Given the description of an element on the screen output the (x, y) to click on. 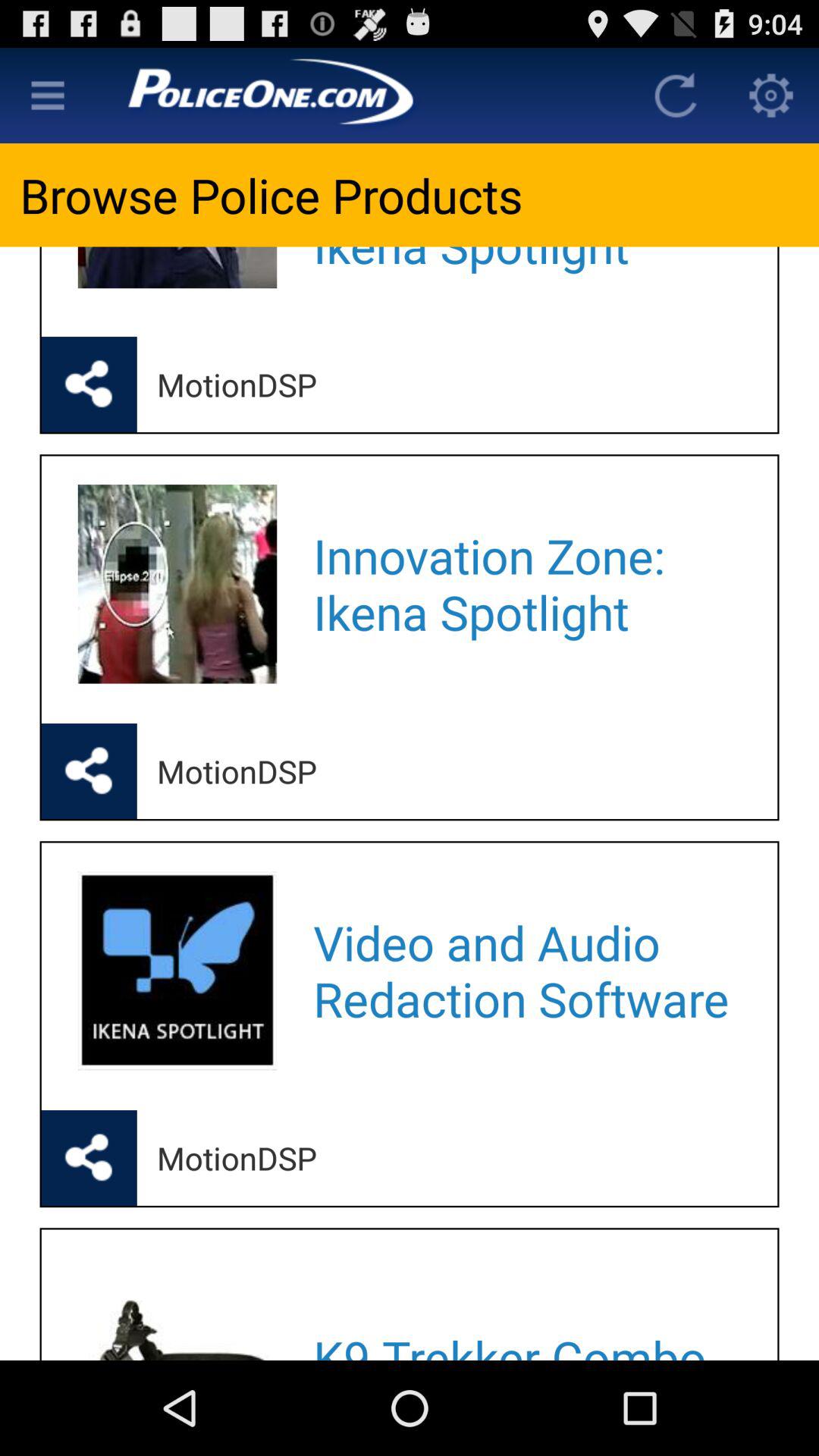
share the article (89, 1157)
